Given the description of an element on the screen output the (x, y) to click on. 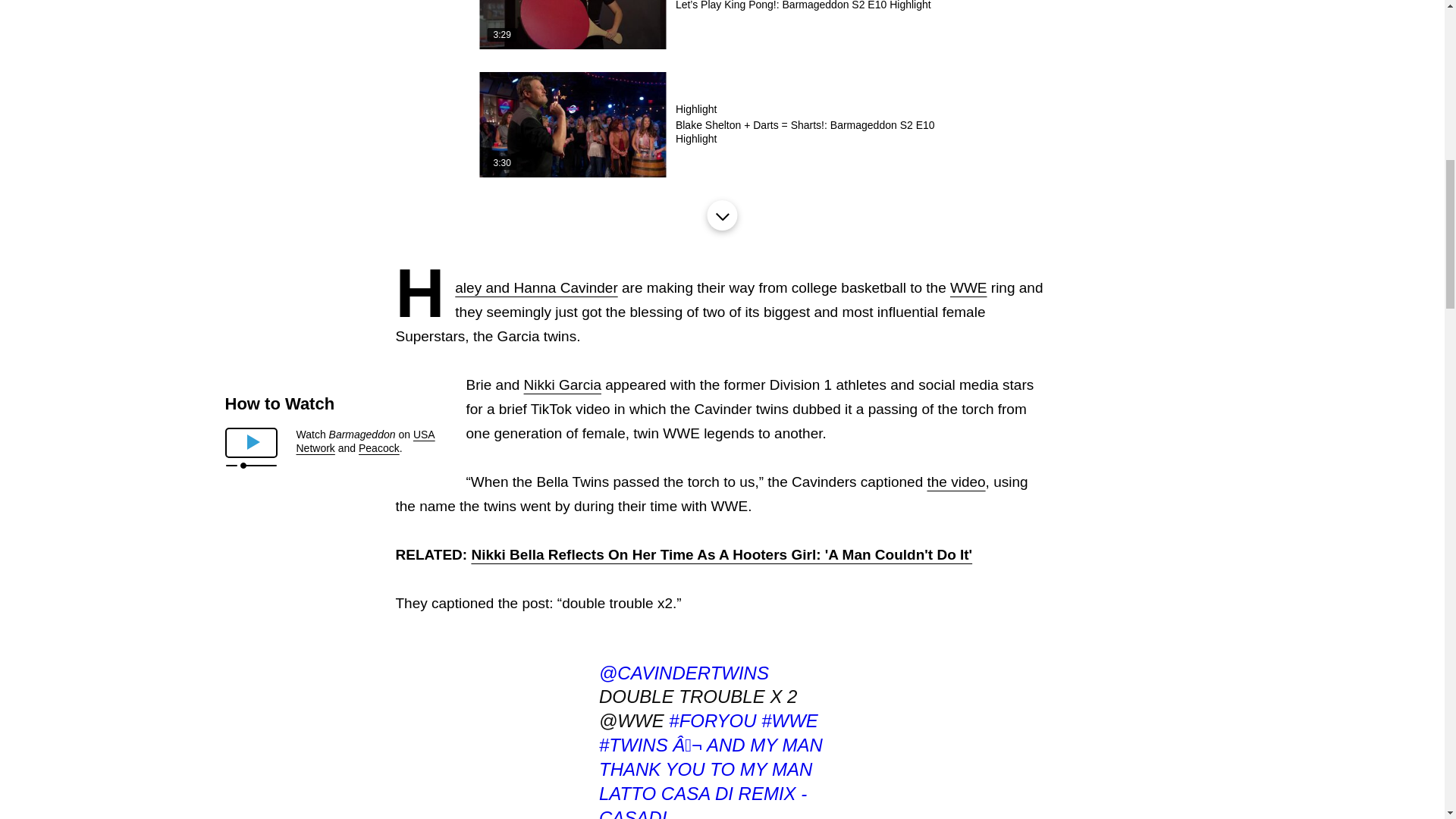
wwe (789, 720)
Haley and Hanna Cavinder (535, 287)
foryou (711, 720)
Load More (721, 214)
Peacock (378, 448)
USA Network (364, 441)
twins (633, 744)
WWE (968, 287)
Nikki Garcia (562, 384)
